Given the description of an element on the screen output the (x, y) to click on. 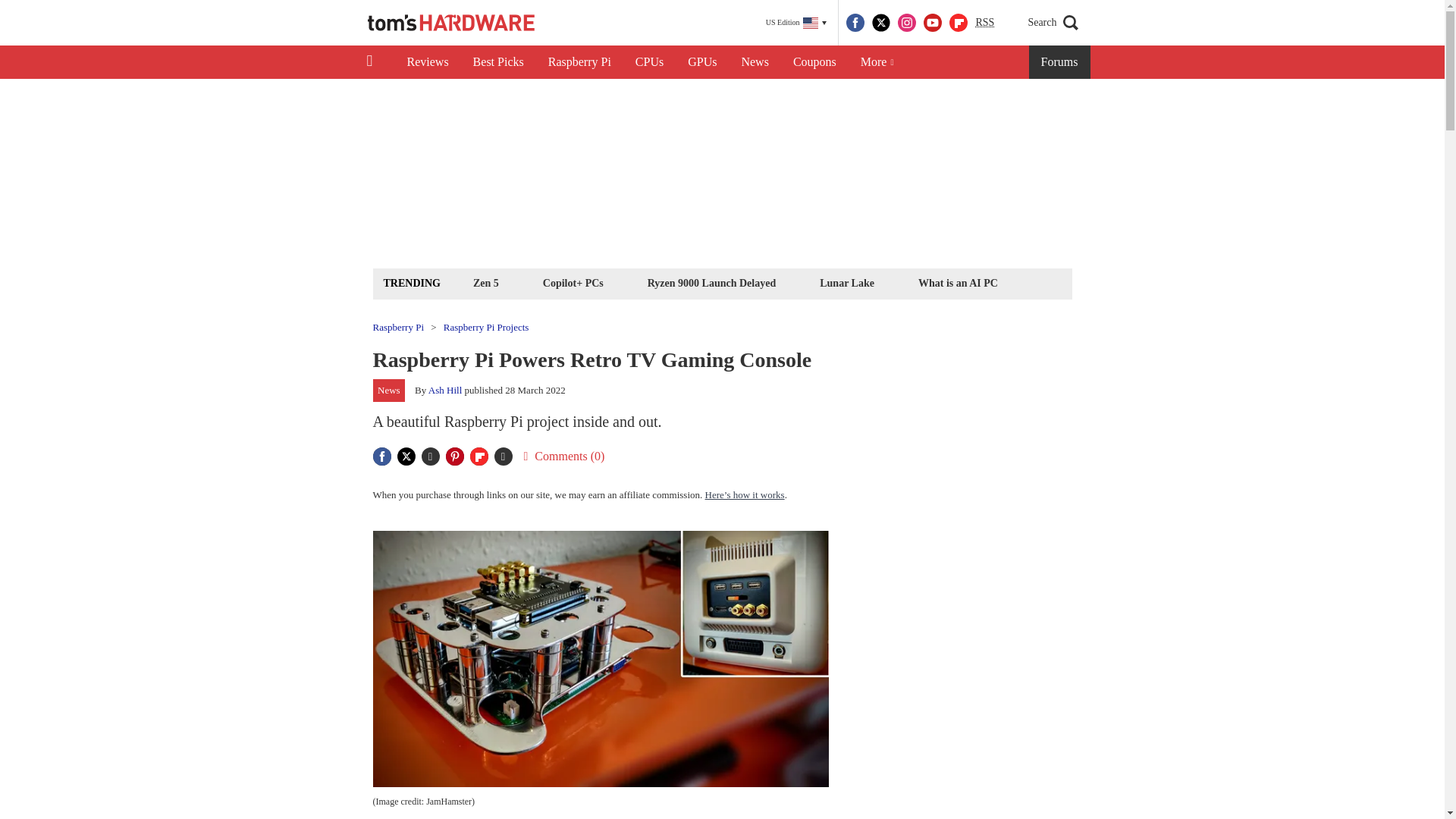
CPUs (649, 61)
Reviews (427, 61)
Really Simple Syndication (984, 21)
Zen 5 (485, 282)
RSS (984, 22)
US Edition (796, 22)
Forums (1059, 61)
Coupons (814, 61)
Raspberry Pi (579, 61)
News (754, 61)
GPUs (702, 61)
Best Picks (498, 61)
